Given the description of an element on the screen output the (x, y) to click on. 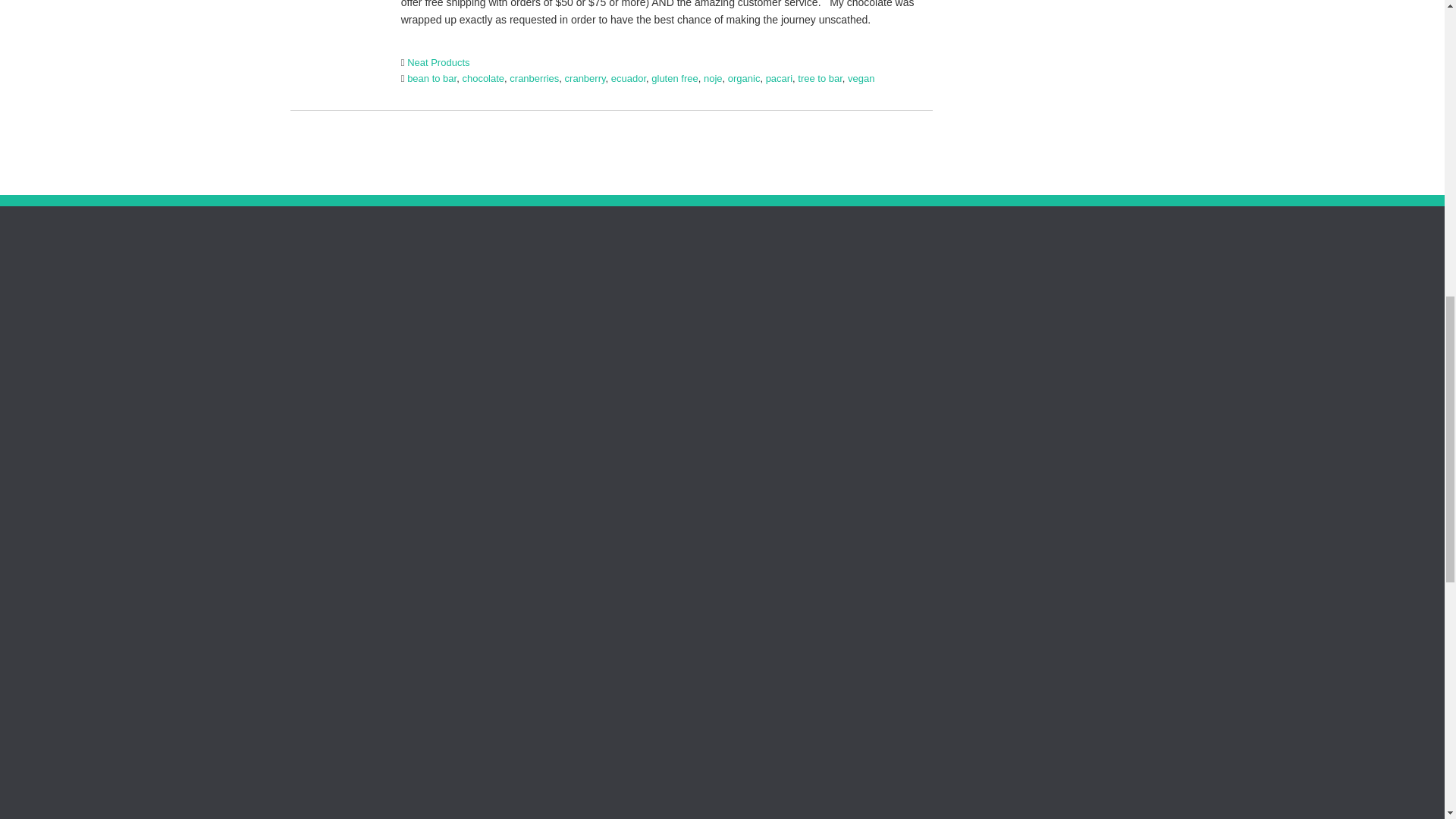
cranberries (534, 78)
cranberry (584, 78)
bean to bar (432, 78)
organic (744, 78)
chocolate (482, 78)
gluten free (673, 78)
Neat Products (437, 61)
noje (712, 78)
ecuador (628, 78)
